Given the description of an element on the screen output the (x, y) to click on. 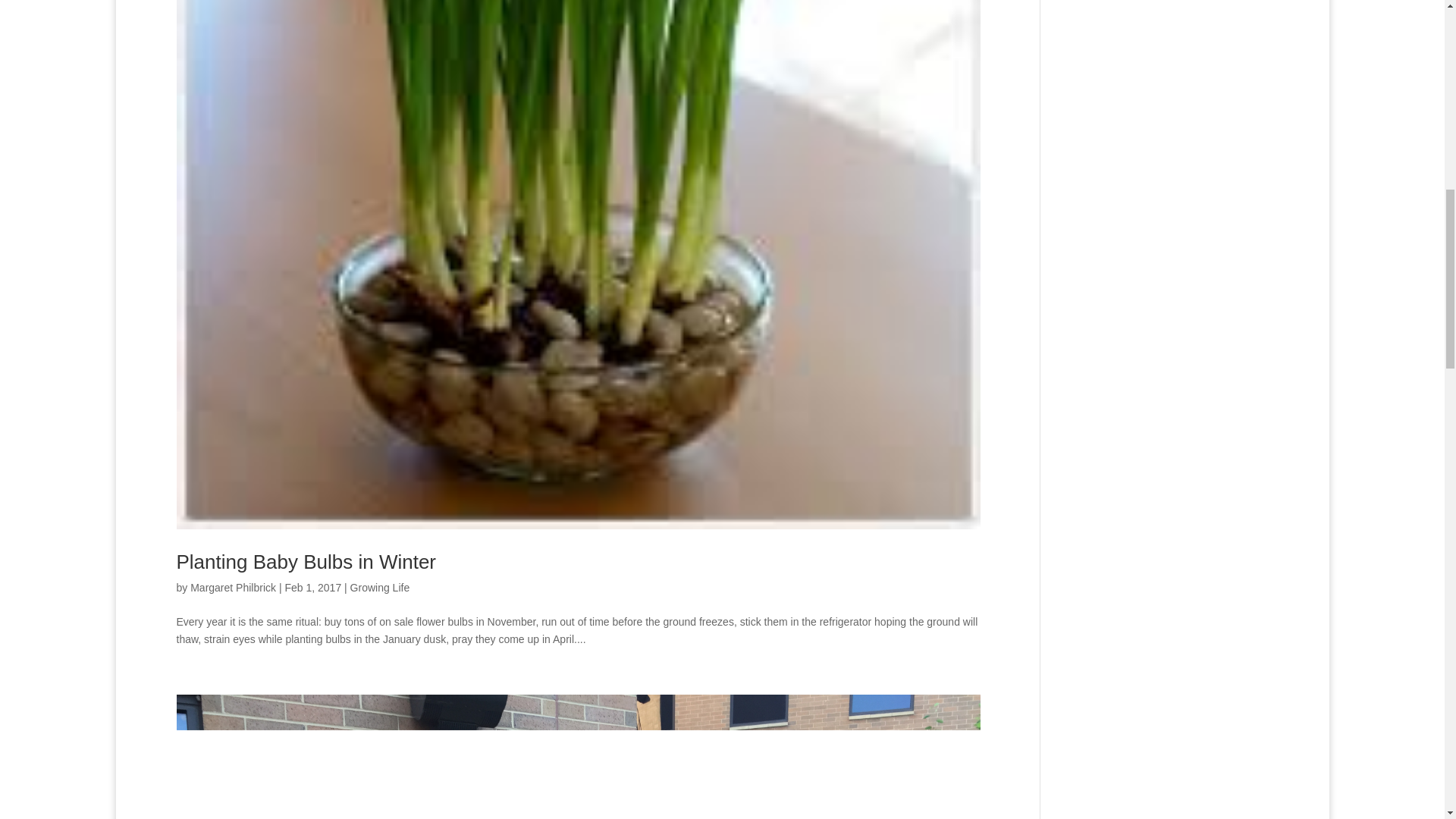
Margaret Philbrick (233, 587)
Posts by Margaret Philbrick (233, 587)
Growing Life (380, 587)
Planting Baby Bulbs in Winter (305, 561)
